Given the description of an element on the screen output the (x, y) to click on. 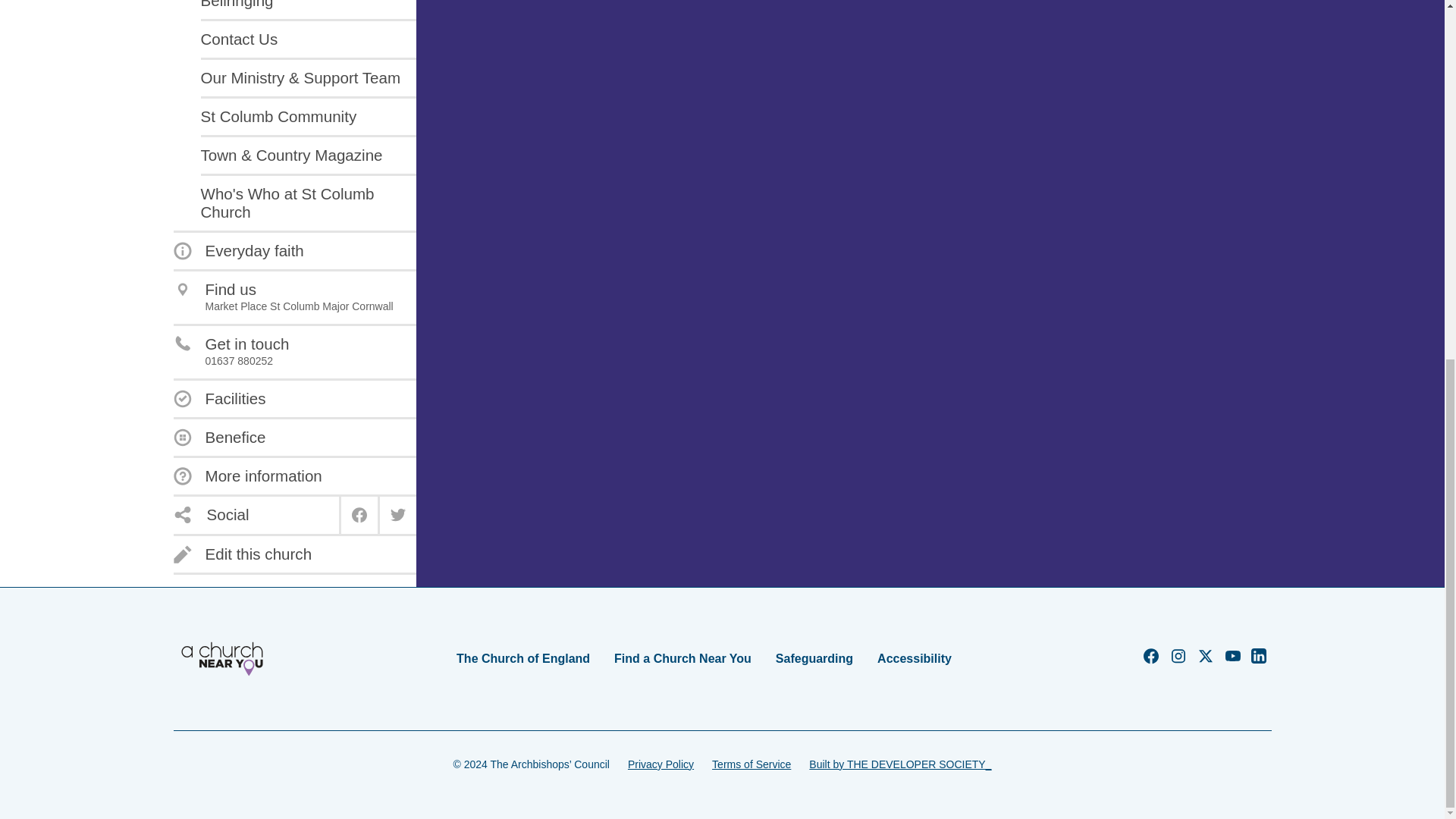
ACNY home (221, 658)
